Given the description of an element on the screen output the (x, y) to click on. 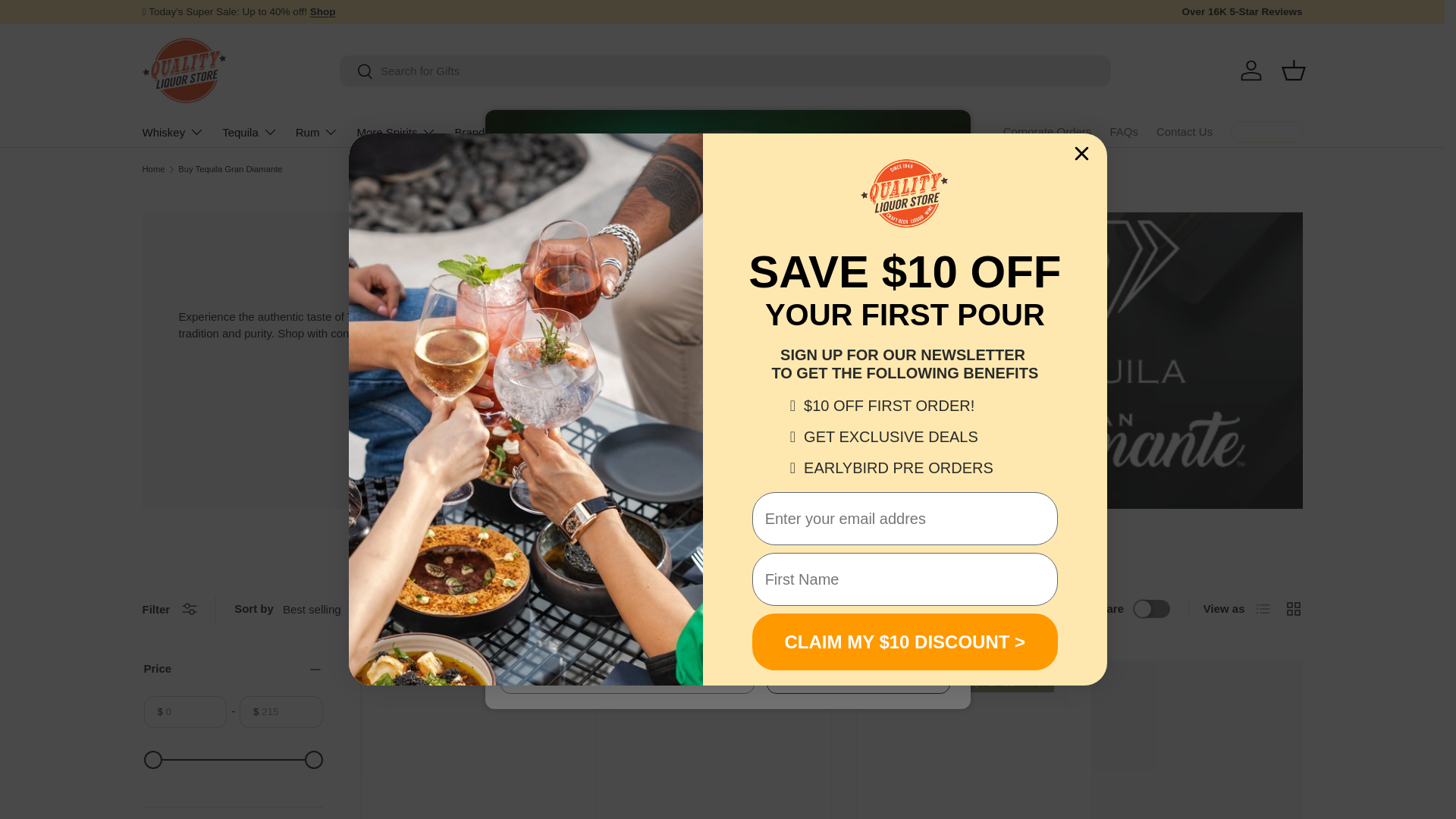
Tequila (250, 132)
Rum (317, 132)
Search (356, 72)
SALE (323, 11)
Shop (323, 11)
More Spirits (395, 132)
Over 16K 5-Star Reviews (1240, 11)
215 (233, 759)
Basket (1293, 70)
SKIP TO CONTENT (68, 21)
Log in (1251, 70)
0 (233, 759)
